Given the description of an element on the screen output the (x, y) to click on. 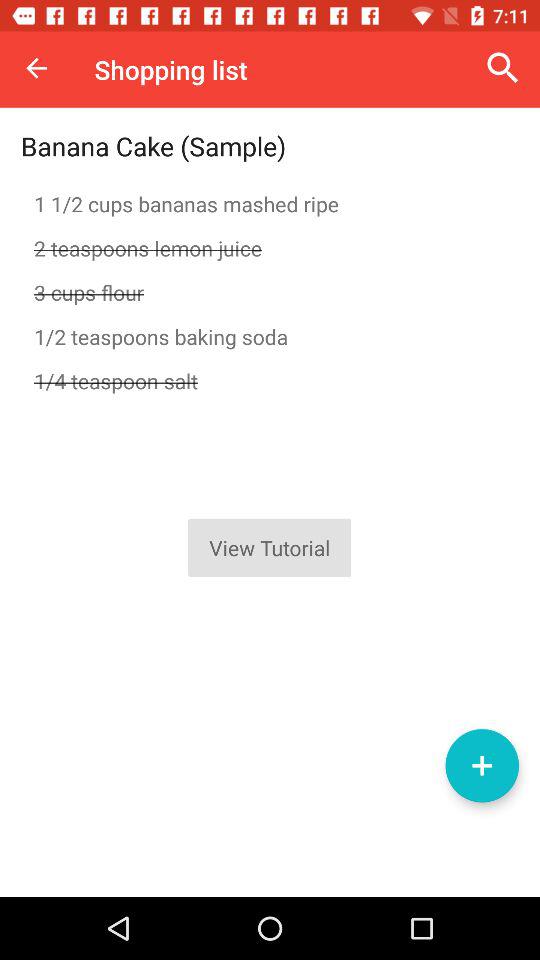
select icon above the 1 2 teaspoons (270, 292)
